Given the description of an element on the screen output the (x, y) to click on. 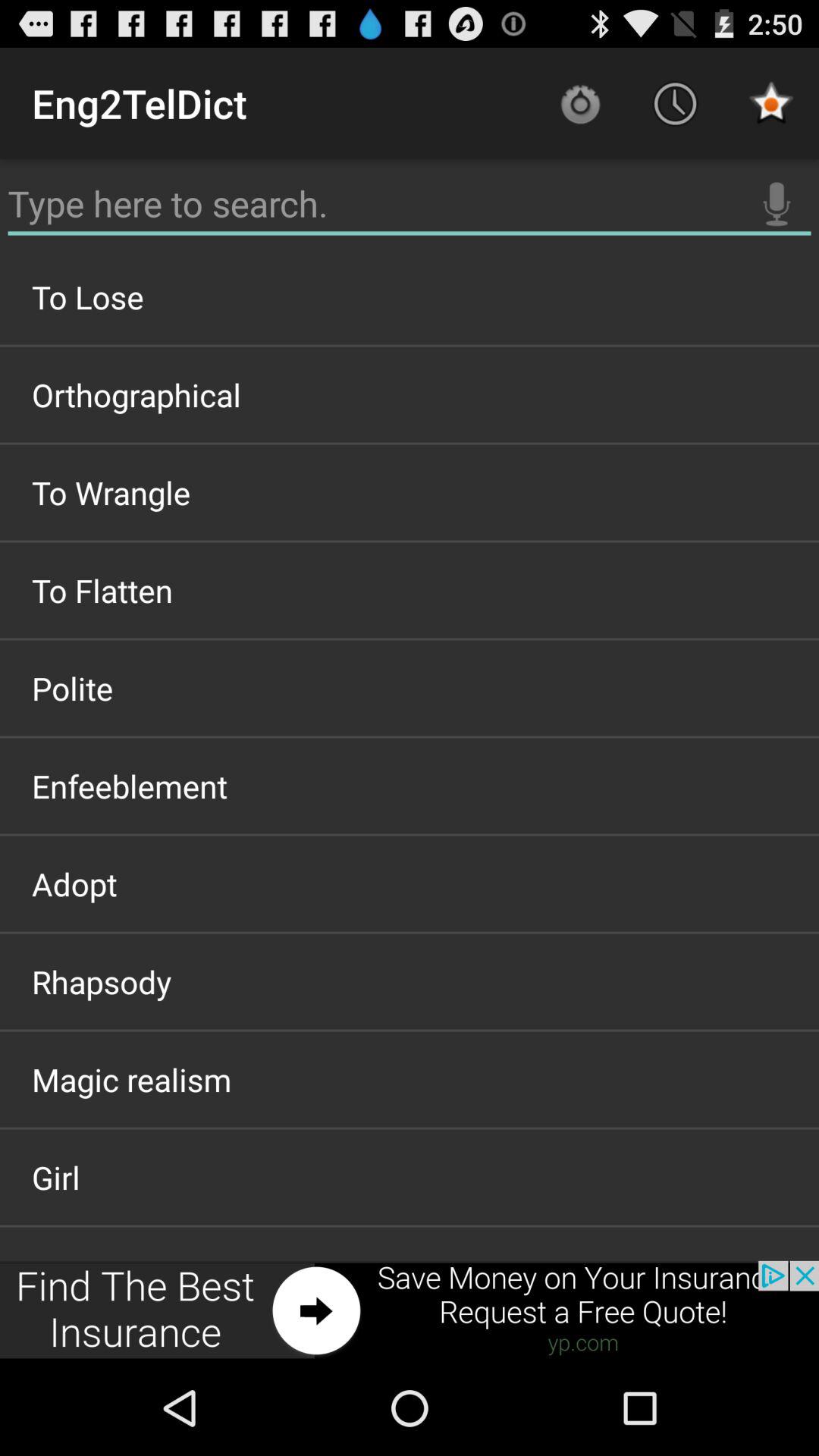
swipe to articular system item (409, 1342)
